Given the description of an element on the screen output the (x, y) to click on. 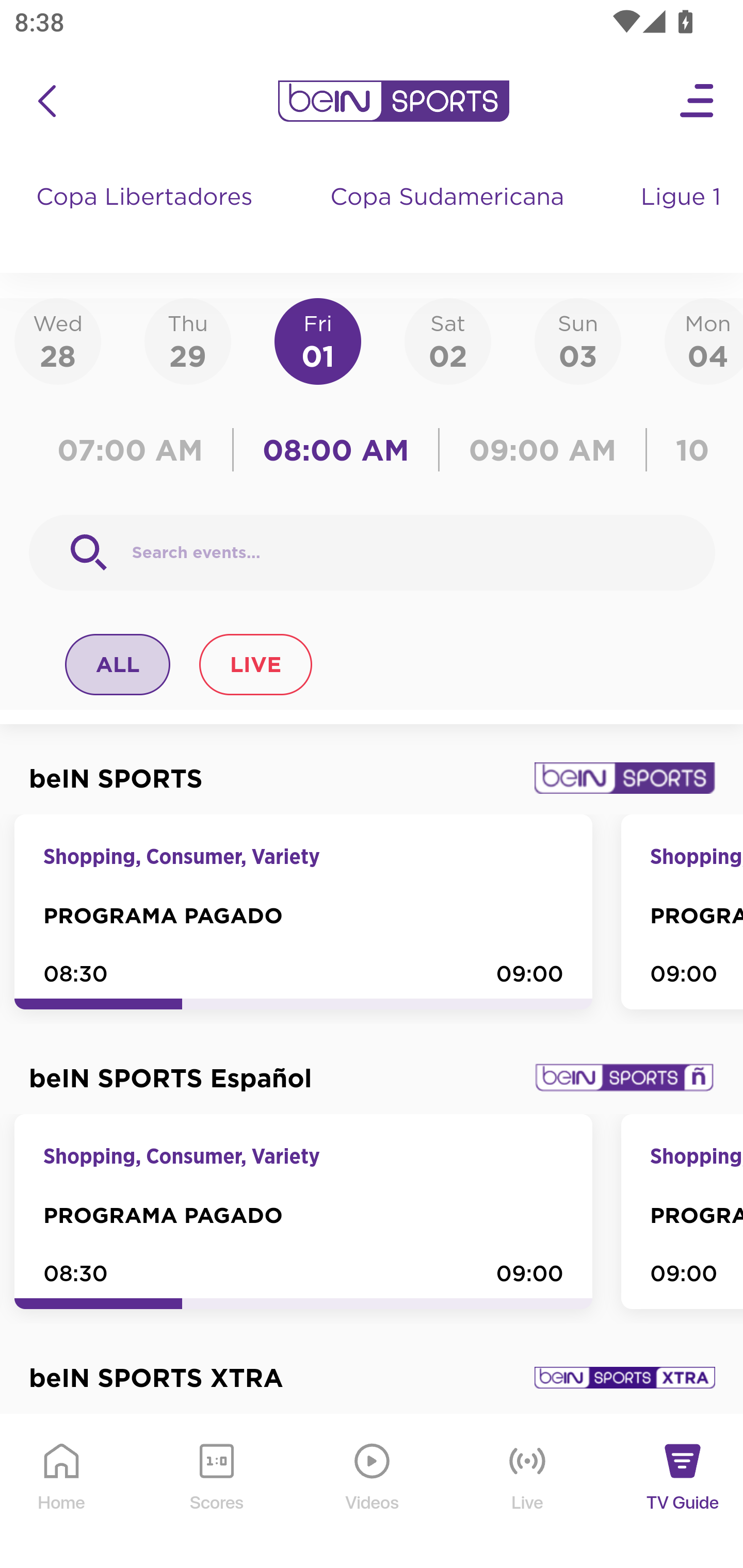
en-us?platform=mobile_android bein logo (392, 101)
icon back (46, 101)
Open Menu Icon (697, 101)
Copa Libertadores (146, 216)
Copa Sudamericana (448, 216)
Ligue 1 (682, 216)
Wed28 (58, 340)
Thu29 (187, 340)
Fri01 (318, 340)
Sat02 (447, 340)
Sun03 (578, 340)
Mon04 (703, 340)
07:00 AM (135, 449)
08:00 AM (336, 449)
09:00 AM (542, 449)
ALL (118, 663)
LIVE (255, 663)
Home Home Icon Home (61, 1491)
Scores Scores Icon Scores (216, 1491)
Videos Videos Icon Videos (372, 1491)
TV Guide TV Guide Icon TV Guide (682, 1491)
